Given the description of an element on the screen output the (x, y) to click on. 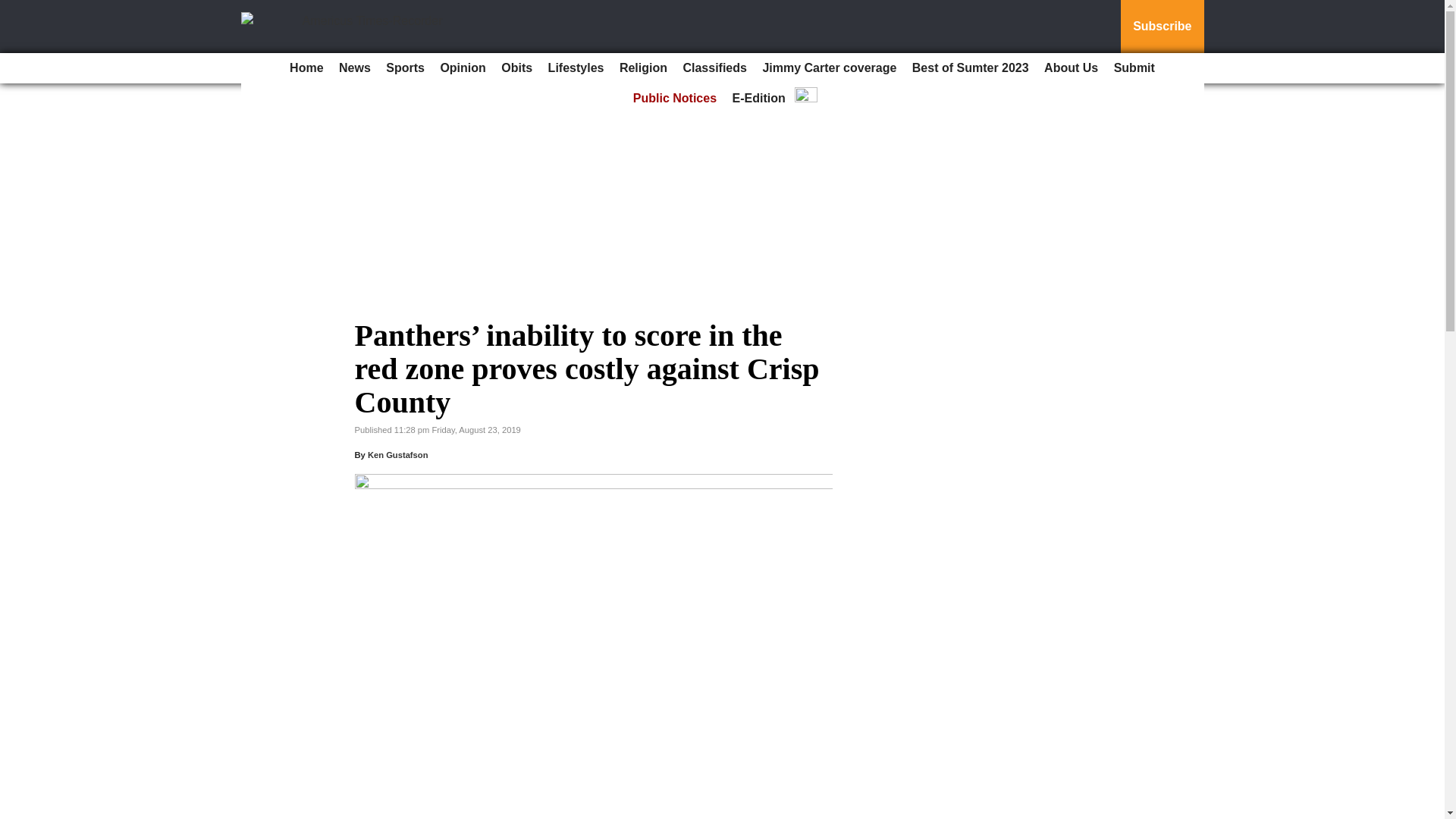
E-Edition (759, 98)
Subscribe (1162, 26)
Jimmy Carter coverage (828, 68)
Sports (405, 68)
Opinion (462, 68)
Go (13, 9)
Public Notices (674, 98)
Best of Sumter 2023 (970, 68)
Submit (1134, 68)
Religion (642, 68)
